Given the description of an element on the screen output the (x, y) to click on. 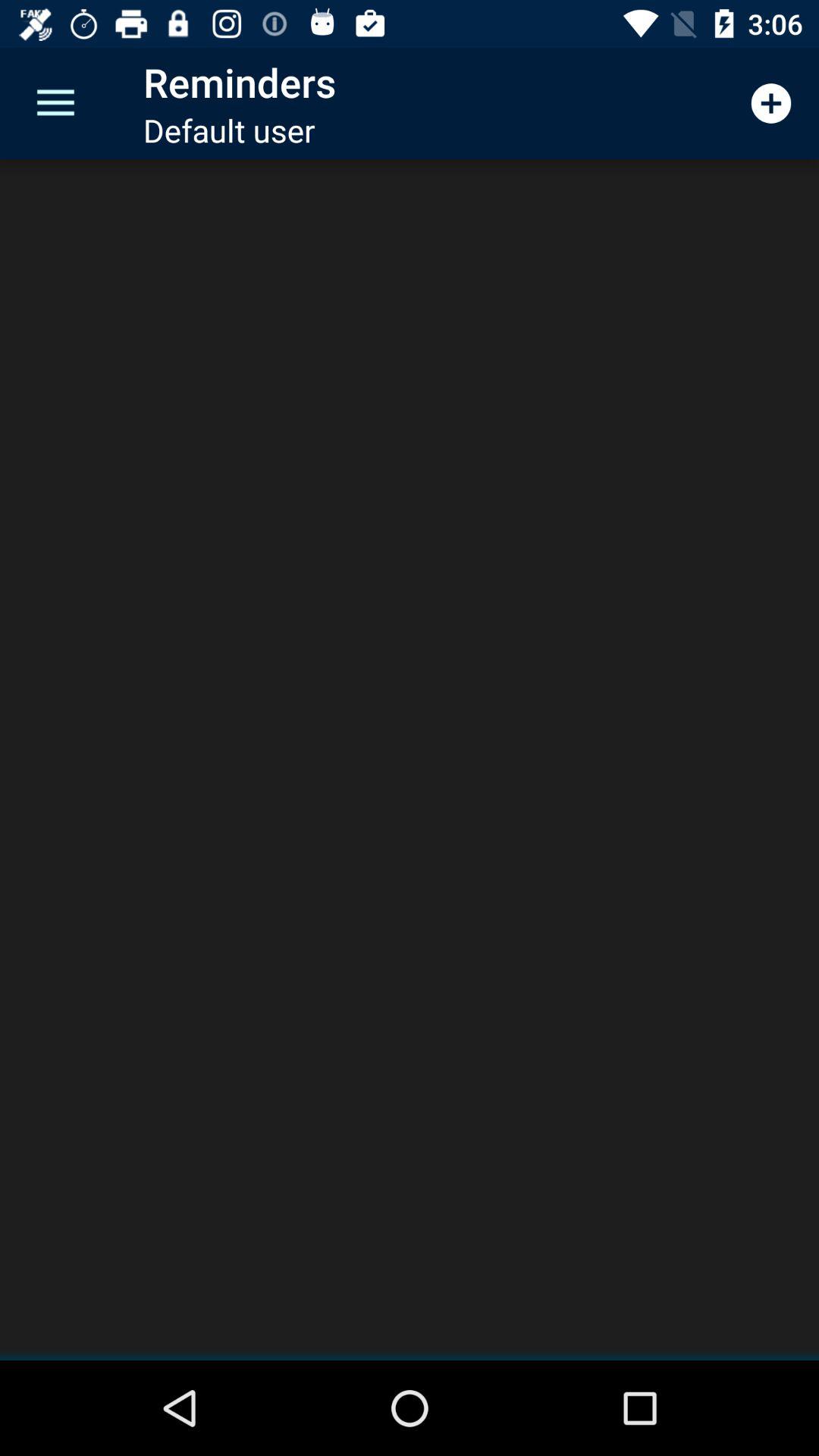
turn on item next to the reminders item (771, 103)
